Given the description of an element on the screen output the (x, y) to click on. 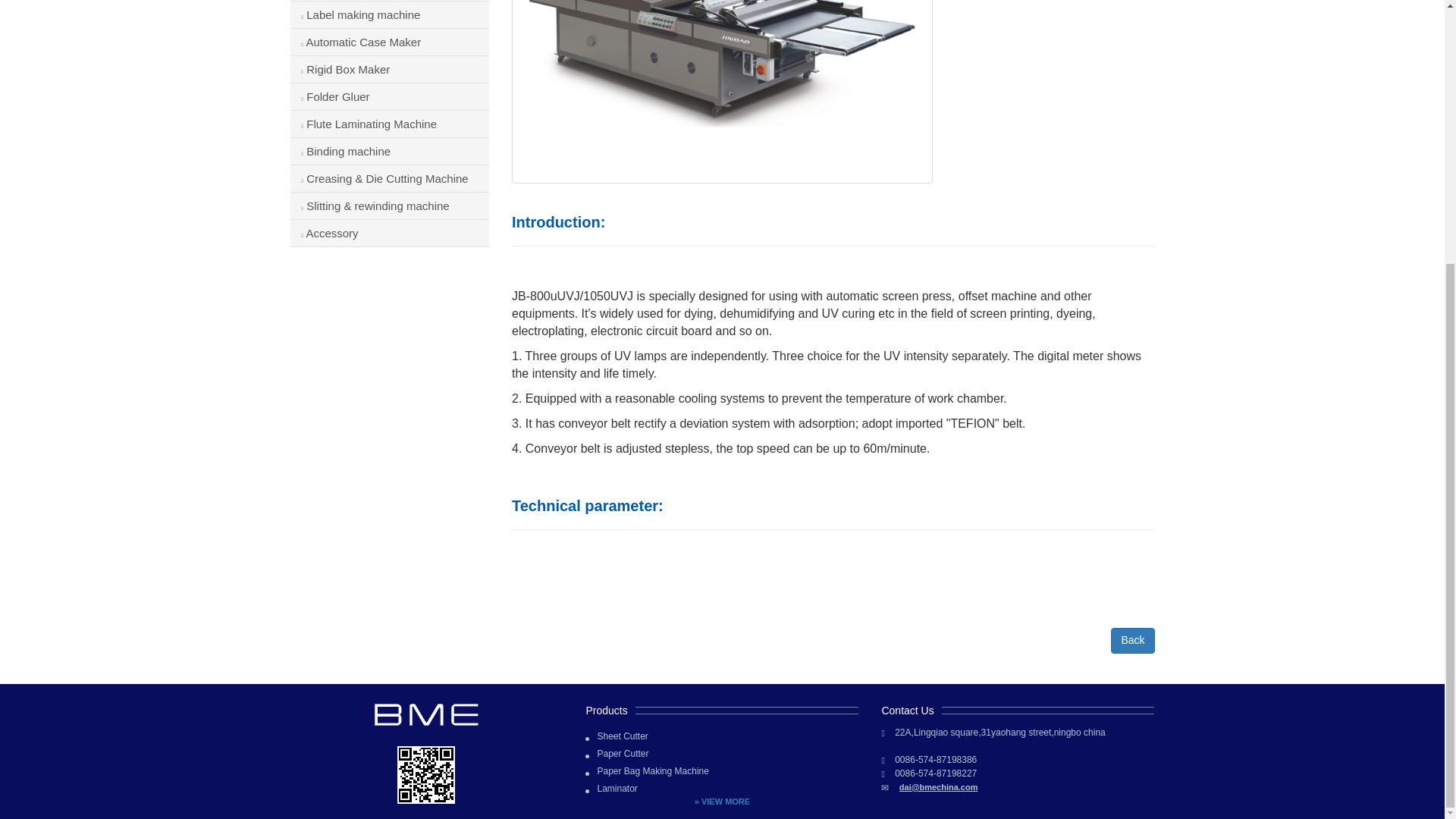
Label making machine (389, 14)
Paper Bag Making Machine (646, 770)
Sheet Cutter (616, 735)
Automatic Case Maker (389, 42)
Flute Laminating Machine (389, 124)
Paper Cutter (616, 753)
Rigid Box Maker (389, 69)
Rigid Box Maker (389, 69)
Label making machine (389, 14)
Accessory (389, 233)
Folder Gluer (389, 96)
Automatic Case Maker (389, 42)
Laminator (611, 788)
Binding machine (389, 151)
